Given the description of an element on the screen output the (x, y) to click on. 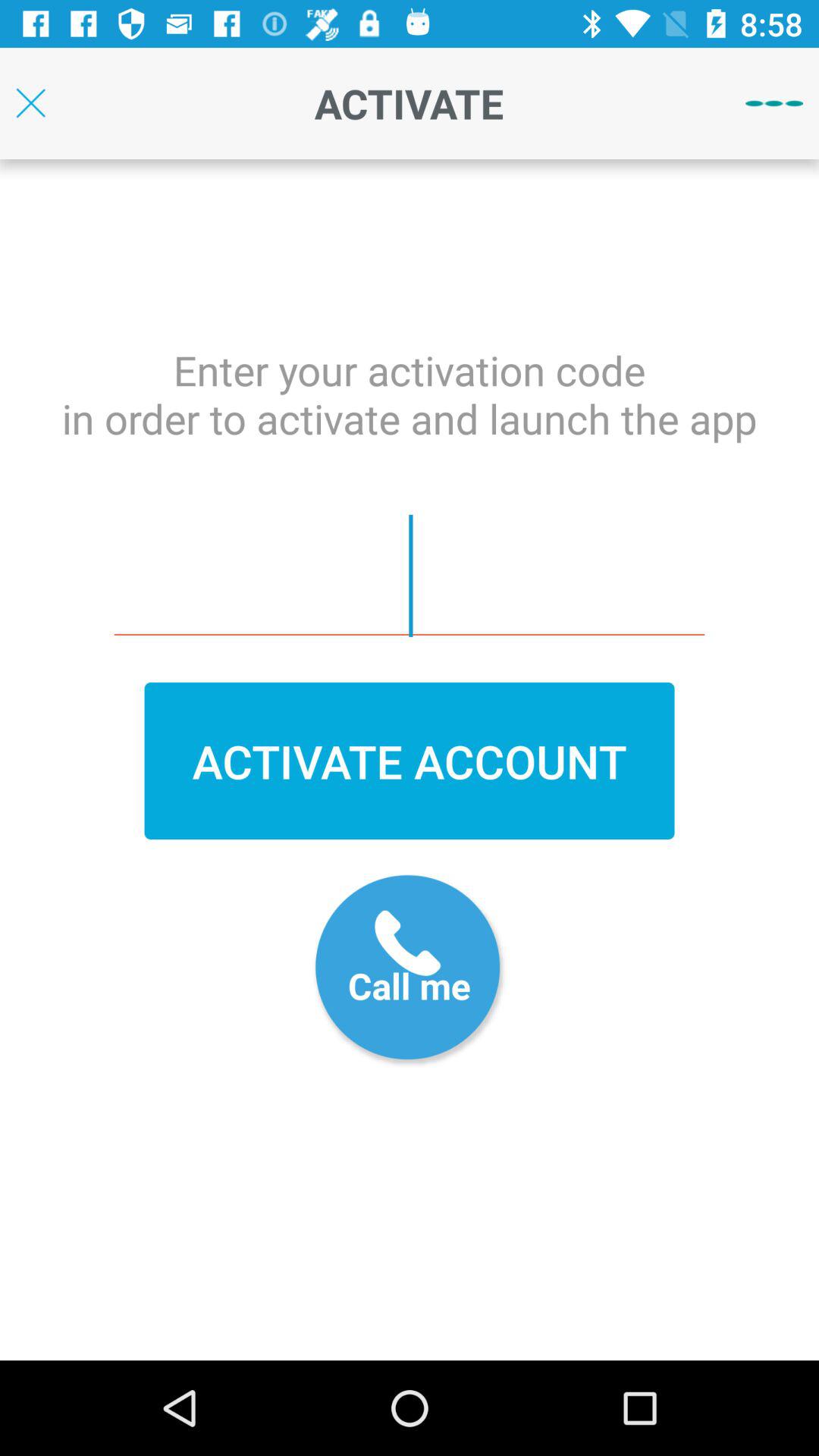
close the page (30, 103)
